Given the description of an element on the screen output the (x, y) to click on. 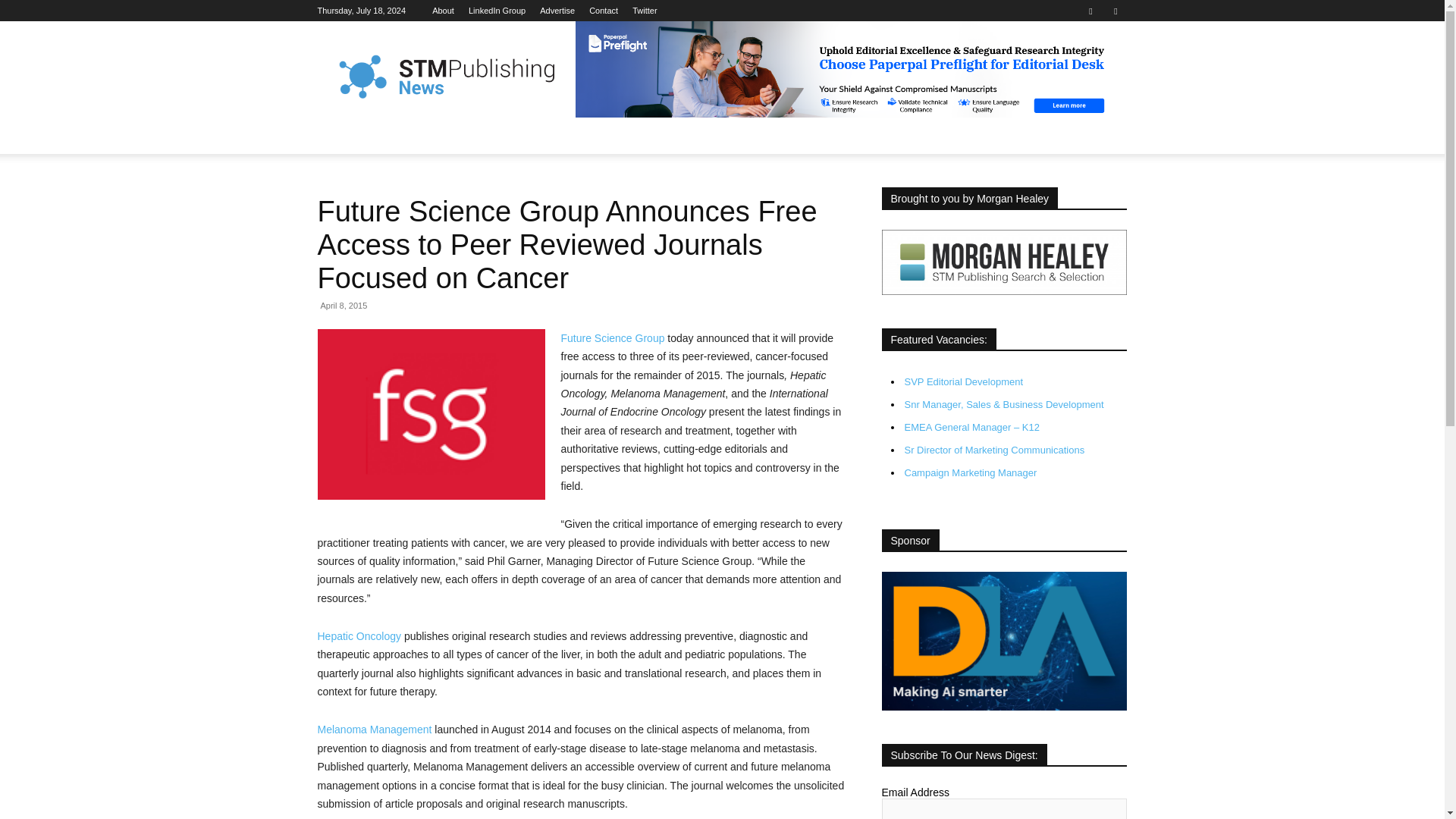
FEATURED (411, 135)
Advertise (557, 10)
Contact (603, 10)
Linkedin (1090, 10)
LinkedIn Group (496, 10)
About (443, 10)
HOME (342, 135)
Twitter (1114, 10)
LinkedIn (496, 10)
Twitter (643, 10)
